Given the description of an element on the screen output the (x, y) to click on. 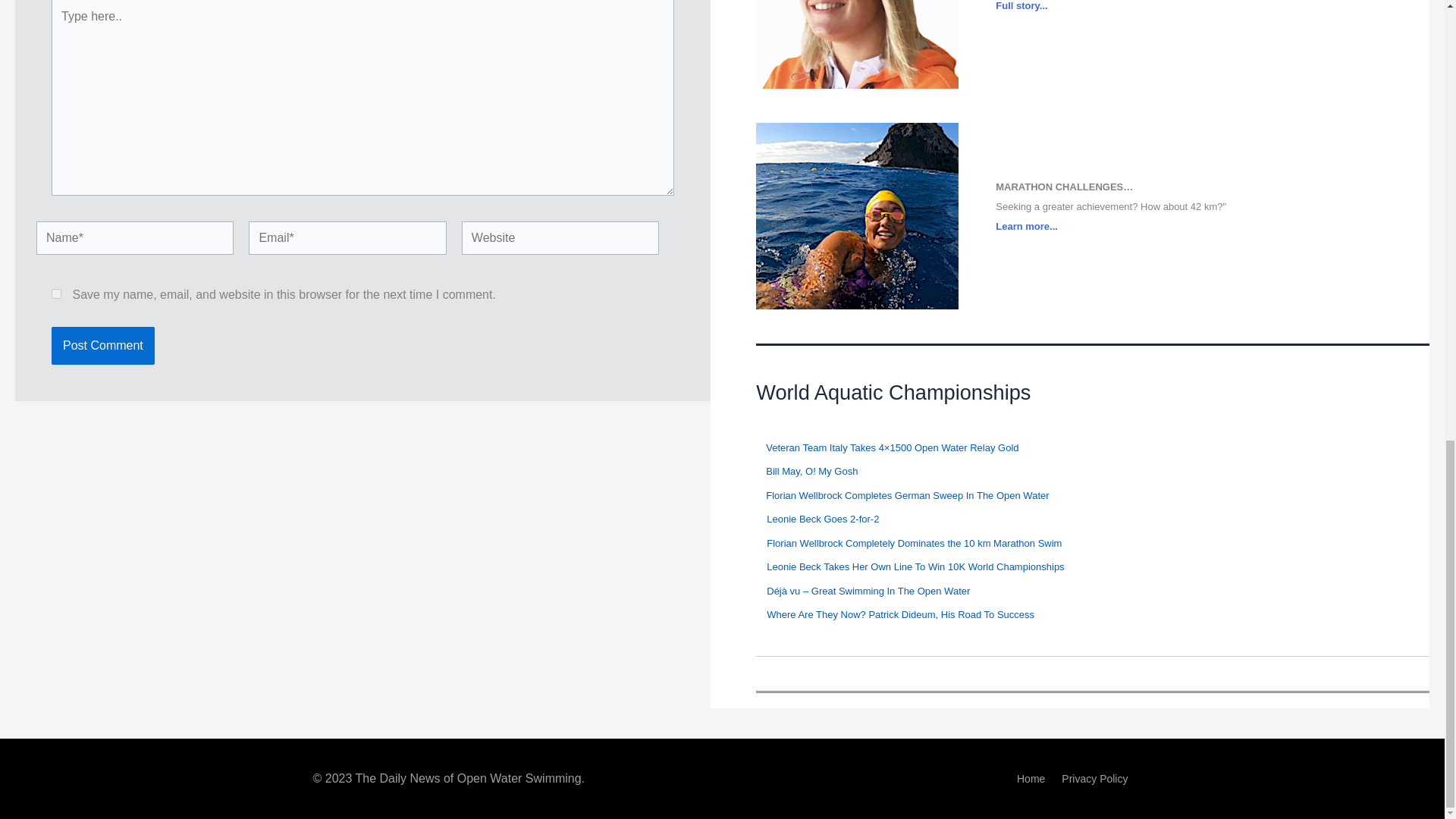
yes (55, 293)
Bill May, O! My Gosh (811, 471)
Post Comment (102, 345)
Home (1030, 781)
Florian Wellbrock Completes German Sweep In The Open Water (906, 495)
Learn more... (1026, 225)
Post Comment (102, 345)
Leonie Beck Goes 2-for-2 (823, 518)
Full story... (1020, 5)
Where Are They Now? Patrick Dideum, His Road To Success (900, 614)
